Given the description of an element on the screen output the (x, y) to click on. 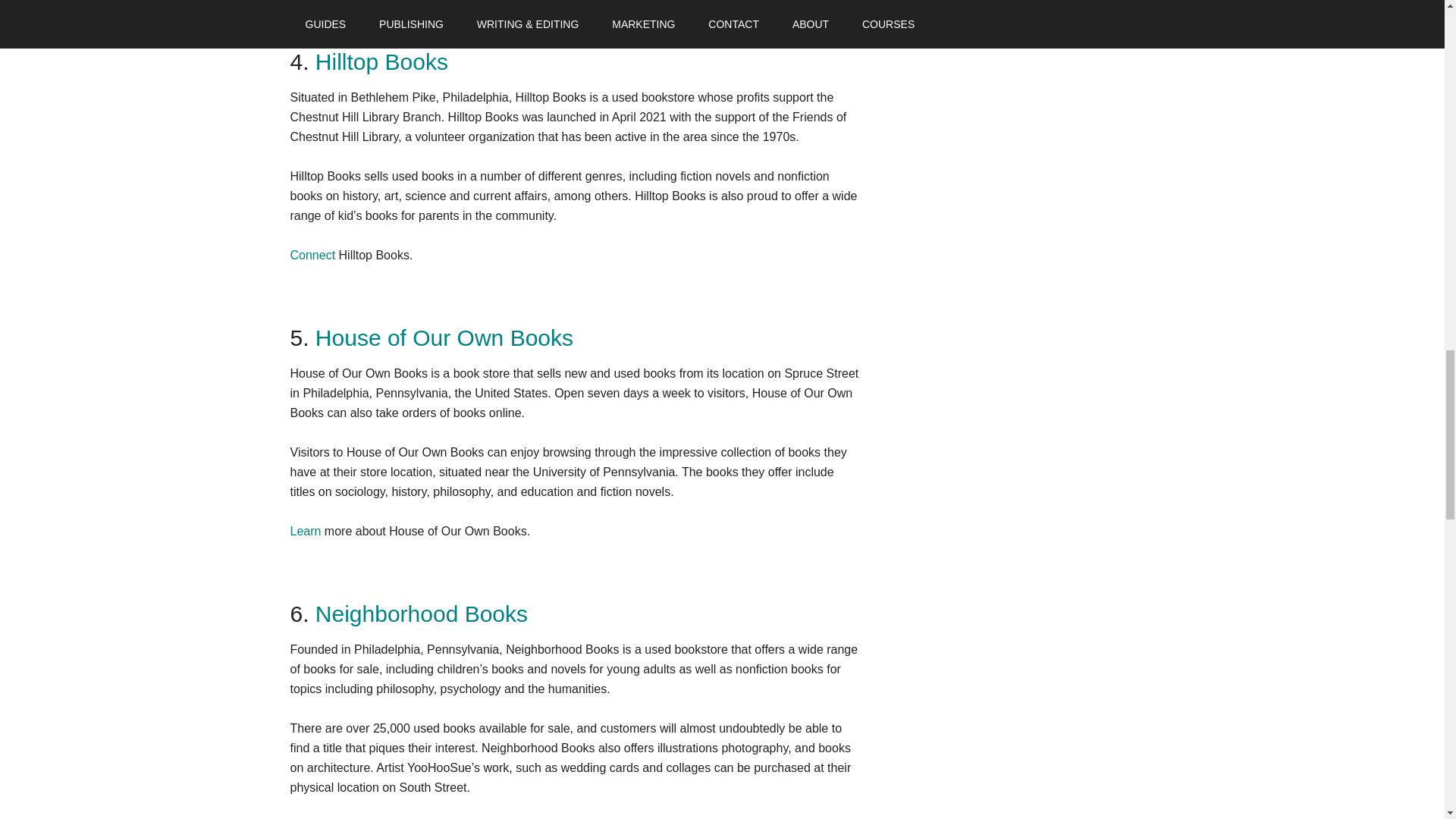
Connect (311, 254)
Hilltop Books (381, 61)
Learn (304, 530)
House of Our Own Books (444, 337)
Neighborhood Books (421, 613)
